Given the description of an element on the screen output the (x, y) to click on. 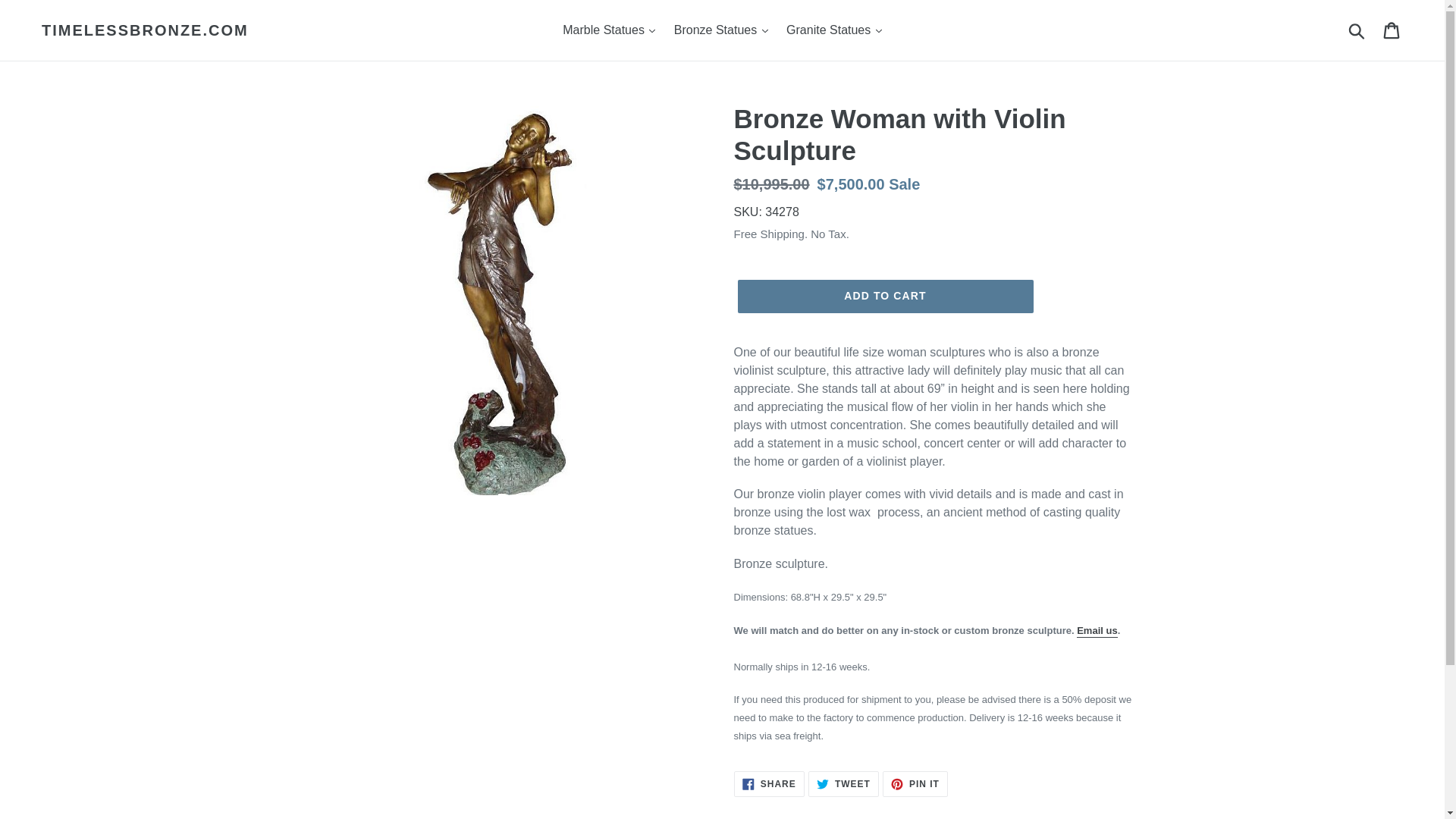
TIMELESSBRONZE.COM (145, 30)
